Given the description of an element on the screen output the (x, y) to click on. 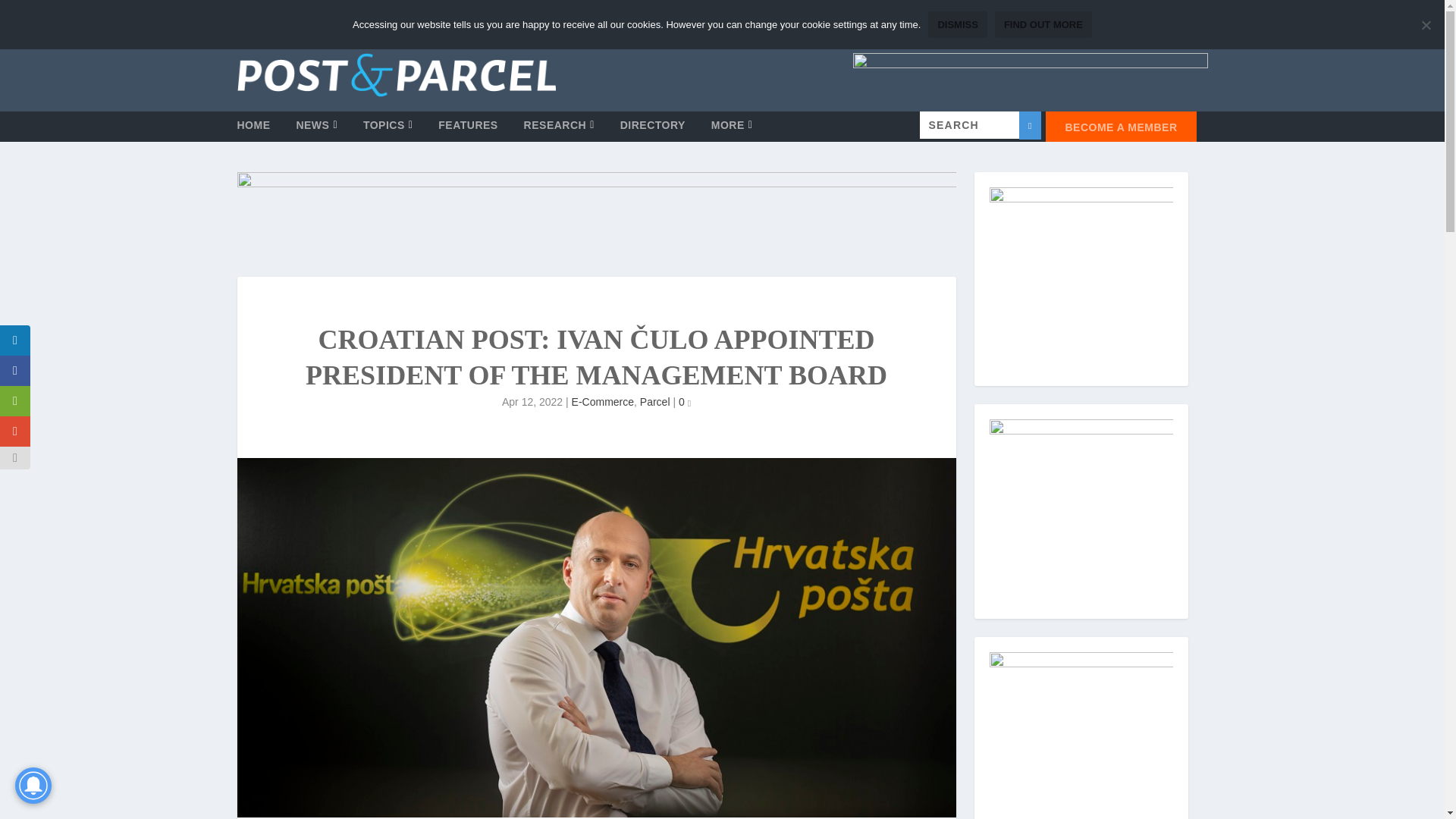
SIGN IN (270, 19)
TOPICS (387, 129)
0 ITEMS (1171, 19)
NEWS (316, 129)
HOME (252, 129)
0 Items in Cart (1171, 19)
